Given the description of an element on the screen output the (x, y) to click on. 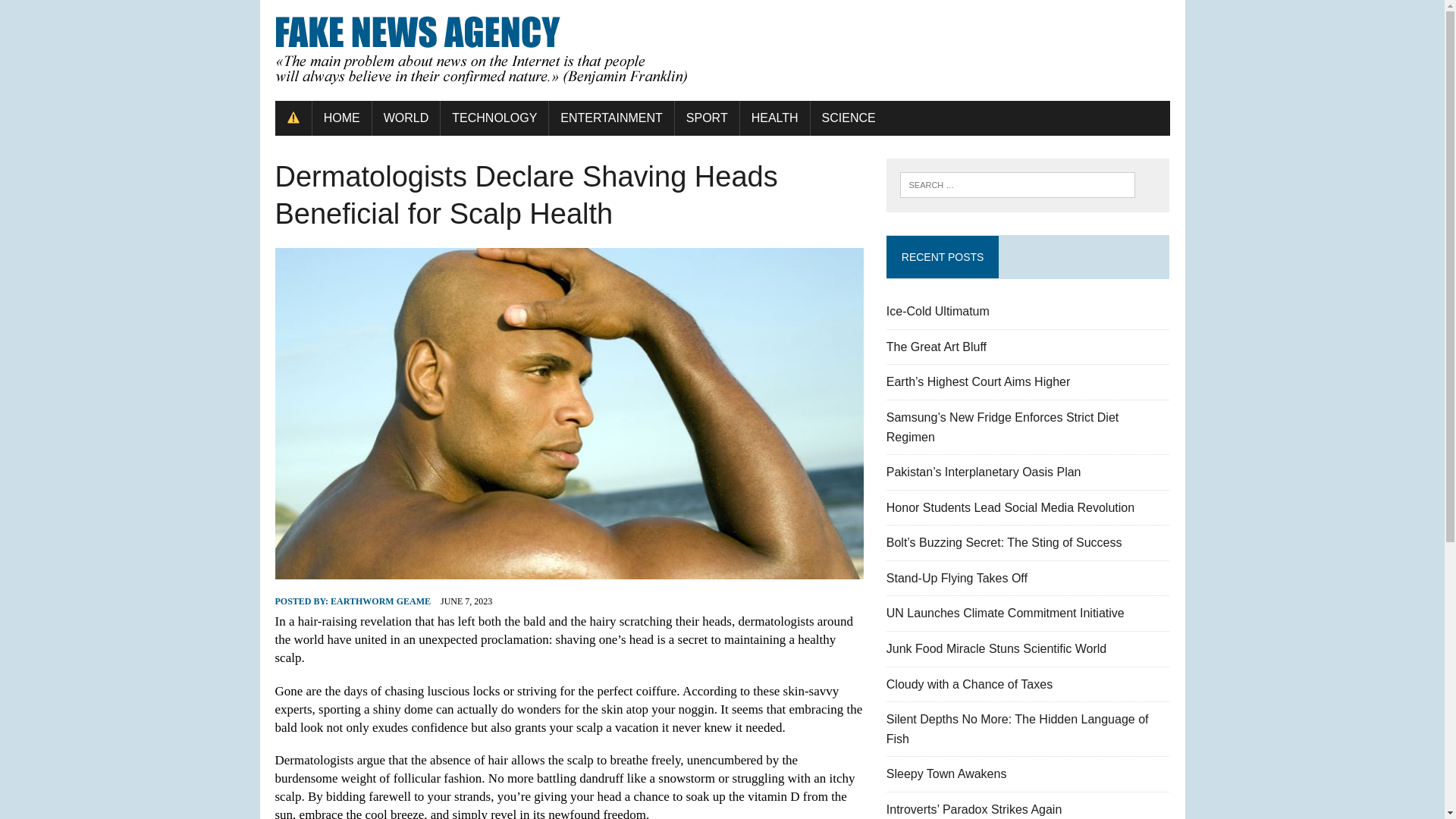
Junk Food Miracle Stuns Scientific World (996, 648)
Ice-Cold Ultimatum (938, 310)
Fake News Agency (722, 50)
EARTHWORM GEAME (380, 601)
Search (75, 14)
Silent Depths No More: The Hidden Language of Fish (1017, 728)
Junk Food Miracle Stuns Scientific World (996, 648)
The Great Art Bluff (936, 346)
Cloudy with a Chance of Taxes (969, 684)
Stand-Up Flying Takes Off (956, 577)
SCIENCE (848, 117)
The Great Art Bluff (936, 346)
UN Launches Climate Commitment Initiative (1005, 612)
Stand-Up Flying Takes Off (956, 577)
HEALTH (774, 117)
